Given the description of an element on the screen output the (x, y) to click on. 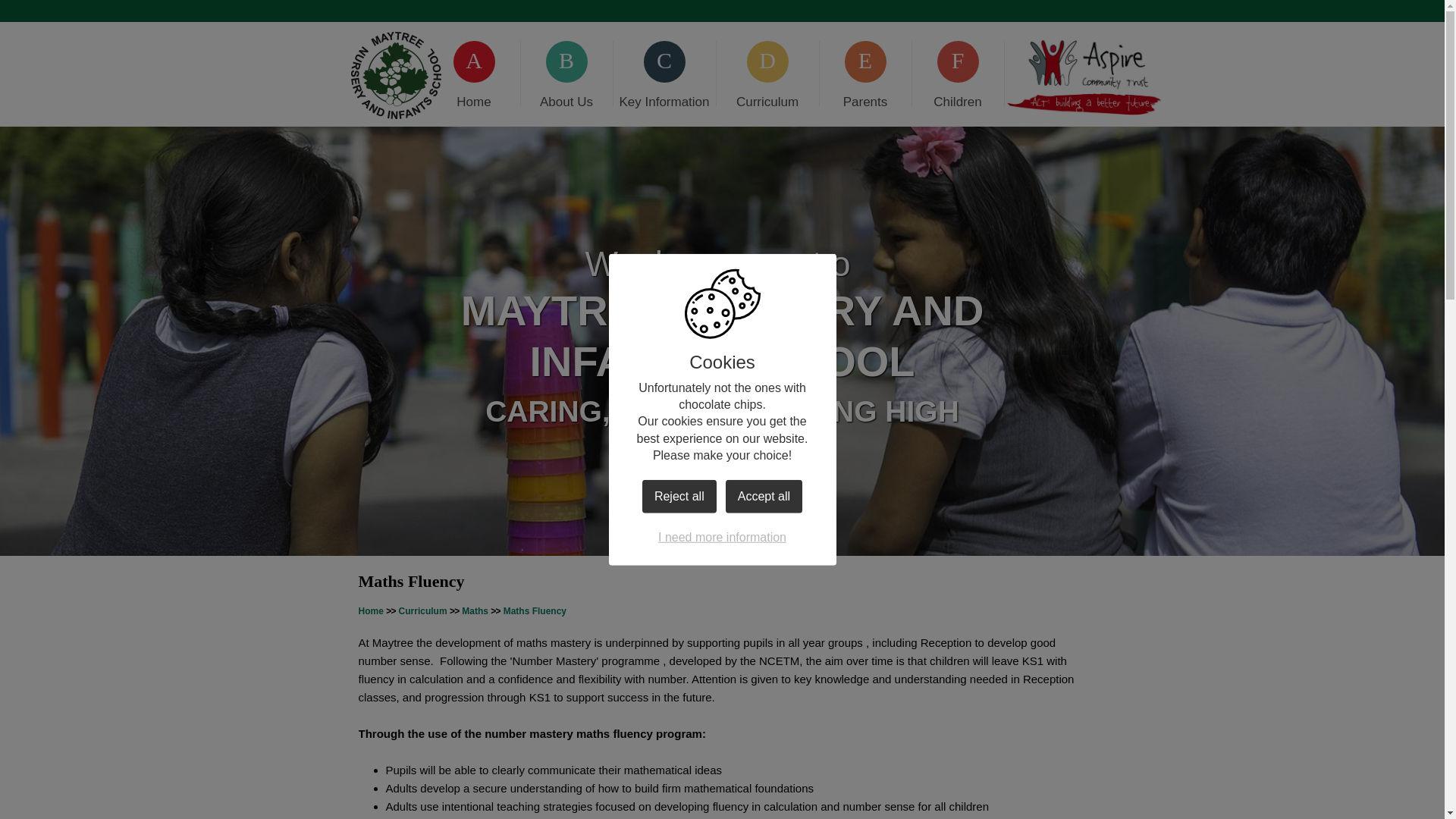
Home Page (395, 75)
Key Information (663, 73)
Home Page (395, 75)
About Us (565, 73)
Home (473, 73)
